Given the description of an element on the screen output the (x, y) to click on. 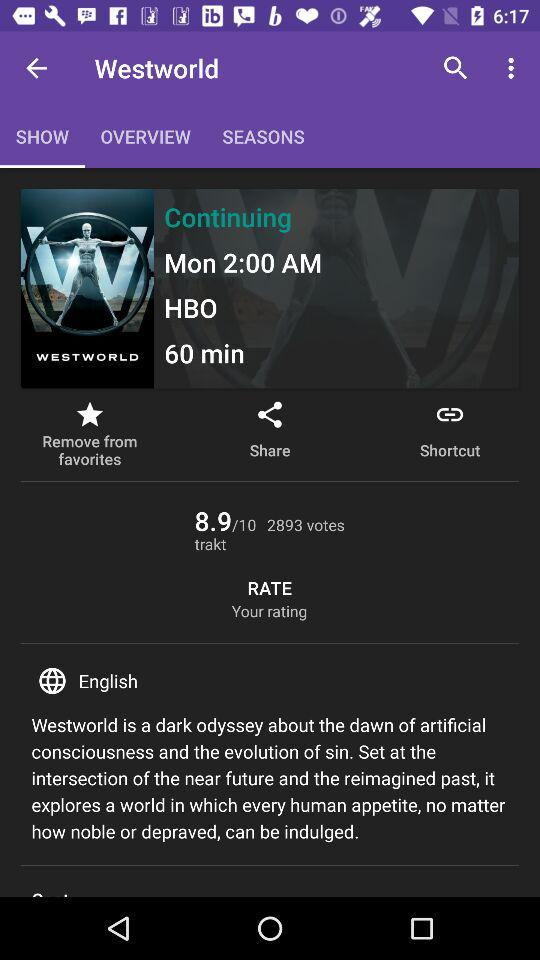
tap item to the left of the overview item (36, 68)
